Given the description of an element on the screen output the (x, y) to click on. 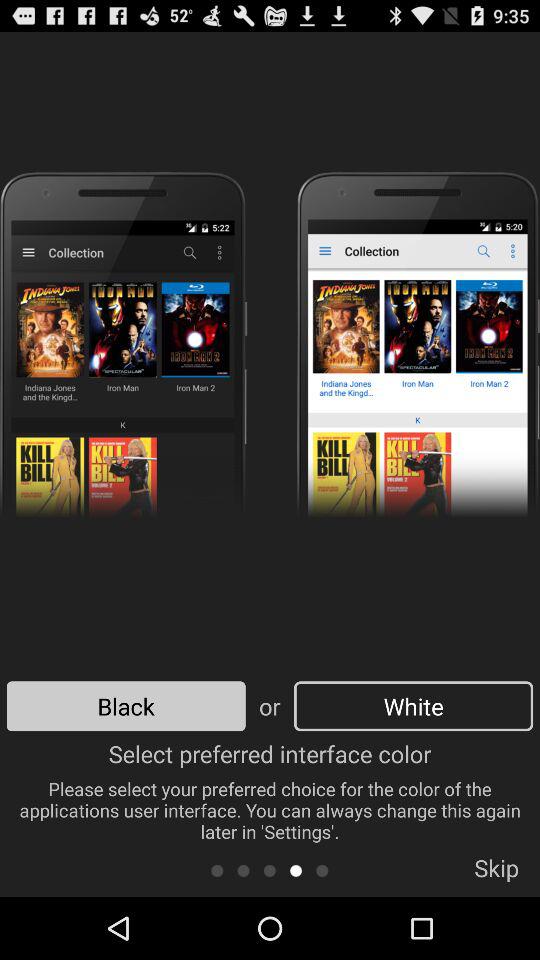
select the item below select preferred interface item (243, 870)
